Given the description of an element on the screen output the (x, y) to click on. 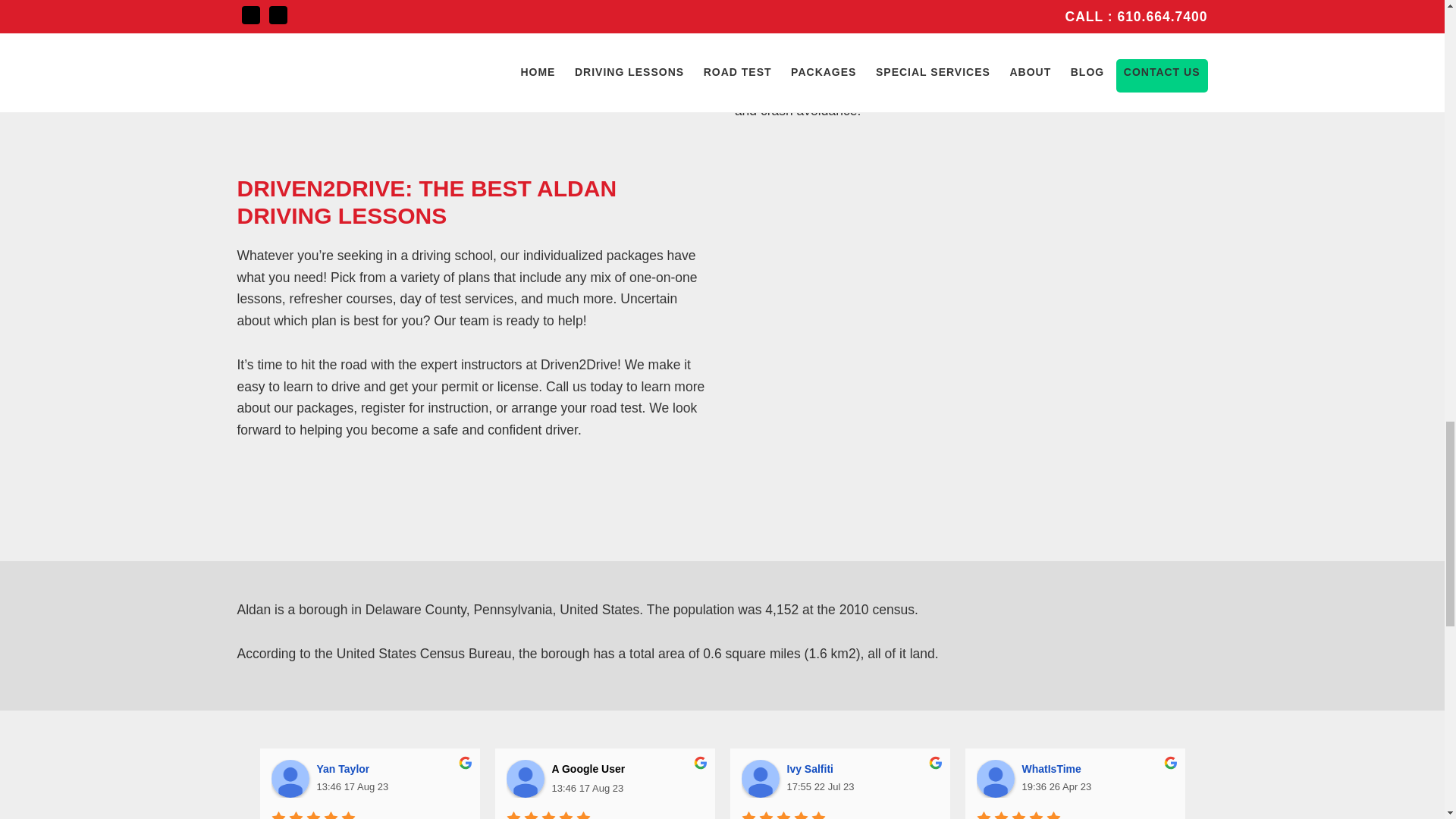
WhatIsTime (995, 778)
Ivy Salfiti (812, 768)
Ivy Salfiti (759, 778)
WhatIsTime (1054, 768)
Ritzy Riches (1290, 768)
A Google User (525, 778)
Yan Taylor (289, 778)
Yan Taylor (345, 768)
Ritzy Riches (1230, 778)
